Given the description of an element on the screen output the (x, y) to click on. 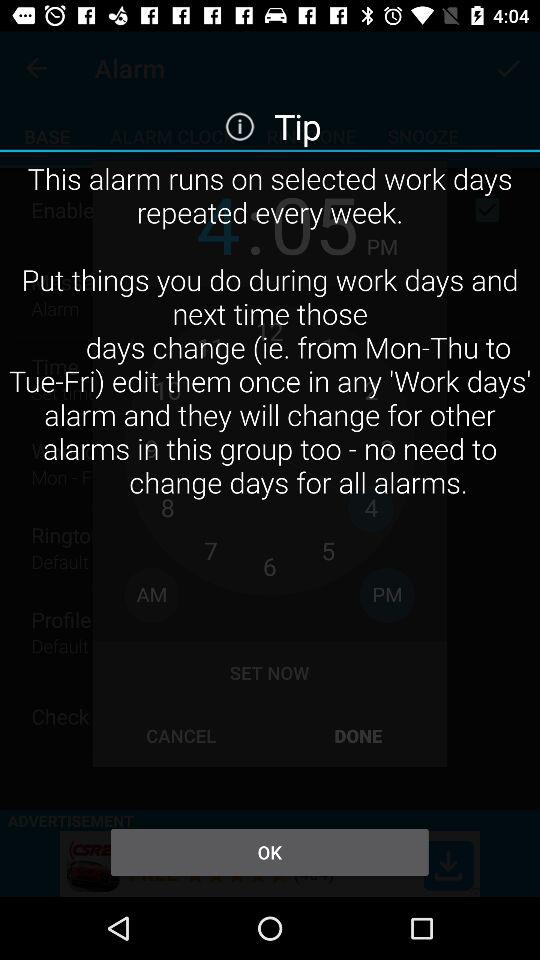
press the icon below this alarm runs item (269, 851)
